Given the description of an element on the screen output the (x, y) to click on. 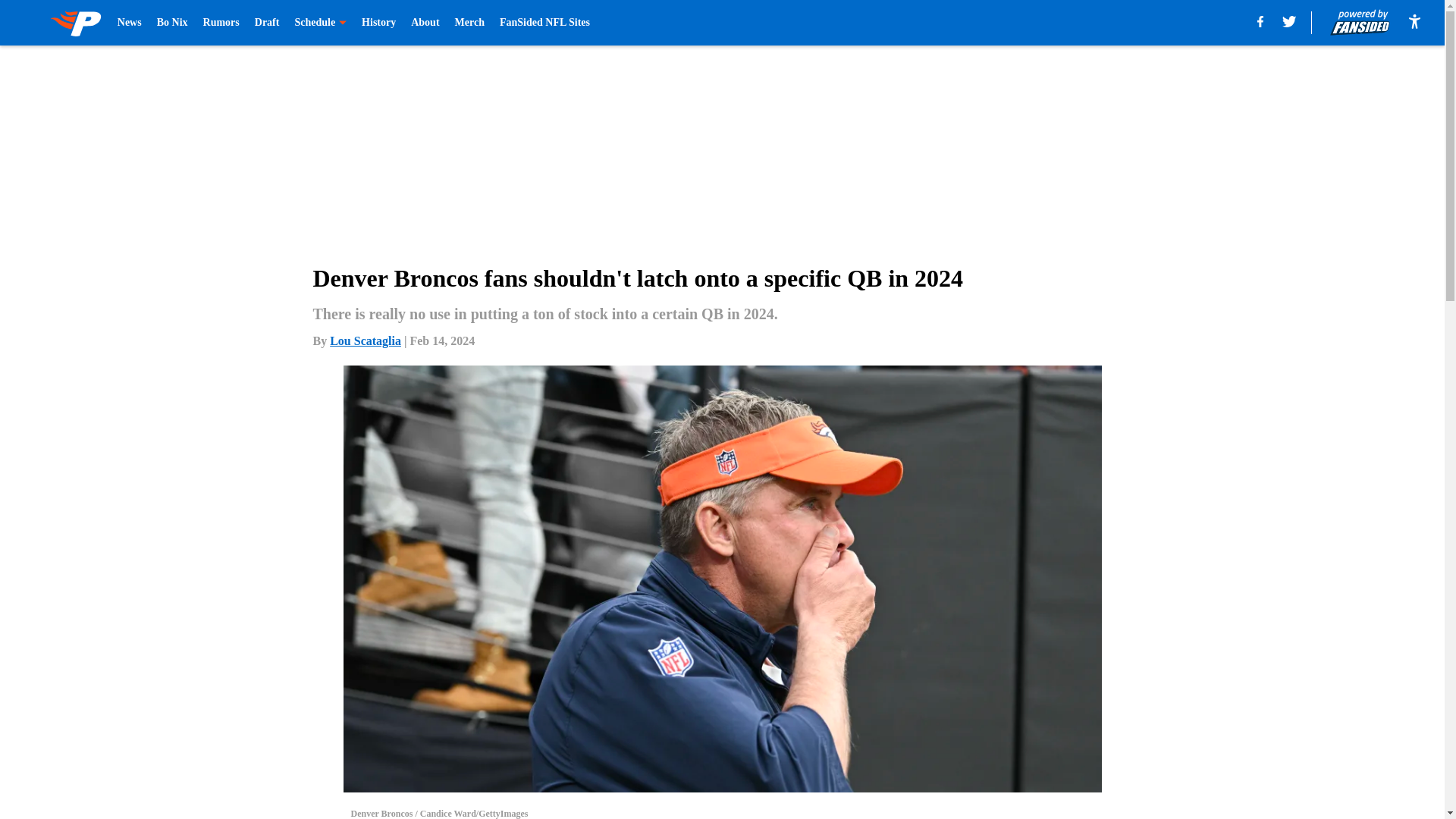
Rumors (221, 22)
Draft (266, 22)
Bo Nix (172, 22)
History (378, 22)
About (424, 22)
News (129, 22)
Merch (469, 22)
Lou Scataglia (365, 340)
FanSided NFL Sites (544, 22)
